Given the description of an element on the screen output the (x, y) to click on. 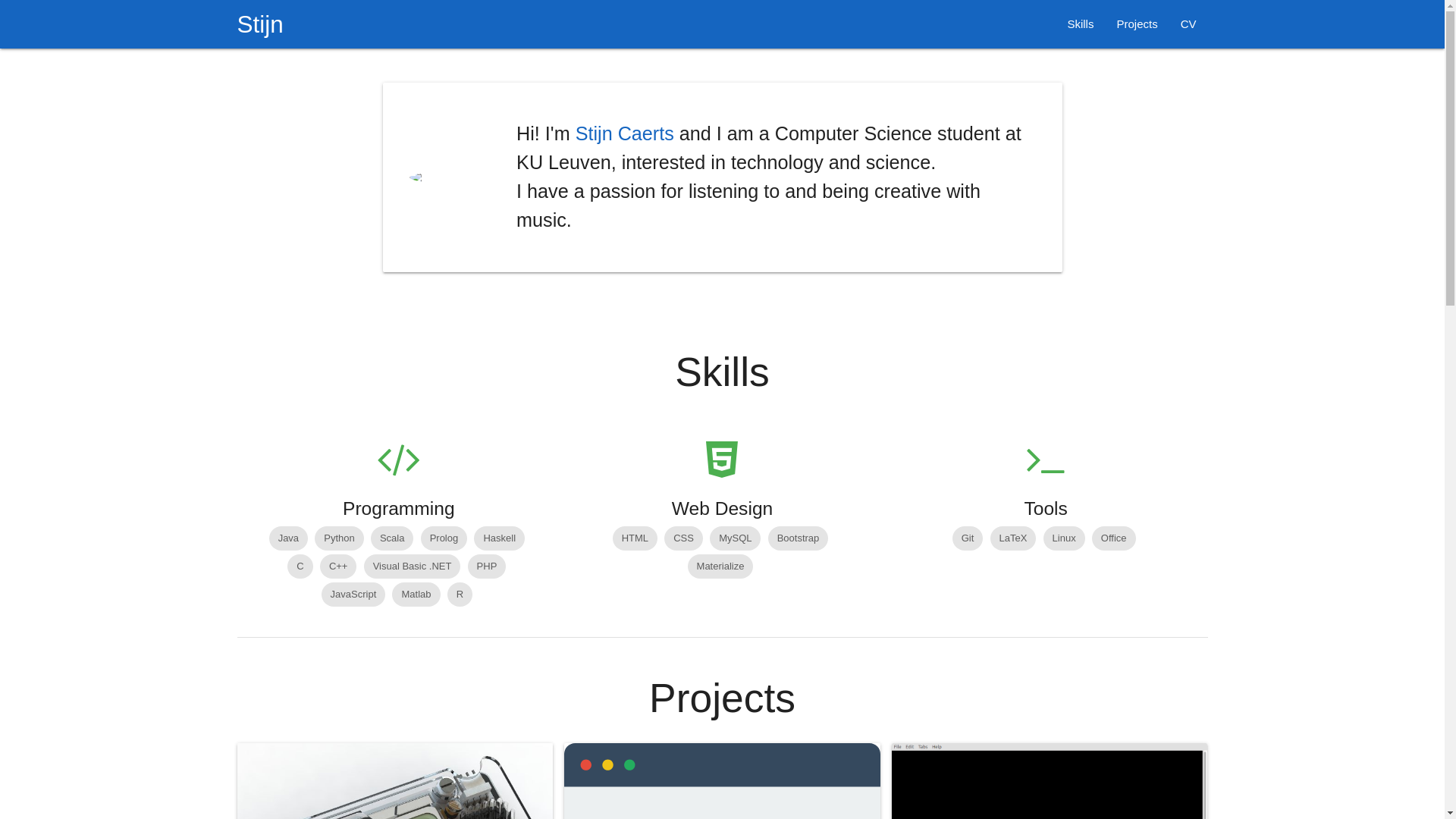
Skills Element type: text (1079, 24)
Projects Element type: text (1136, 24)
CV Element type: text (1188, 24)
Stijn Element type: text (259, 24)
